Given the description of an element on the screen output the (x, y) to click on. 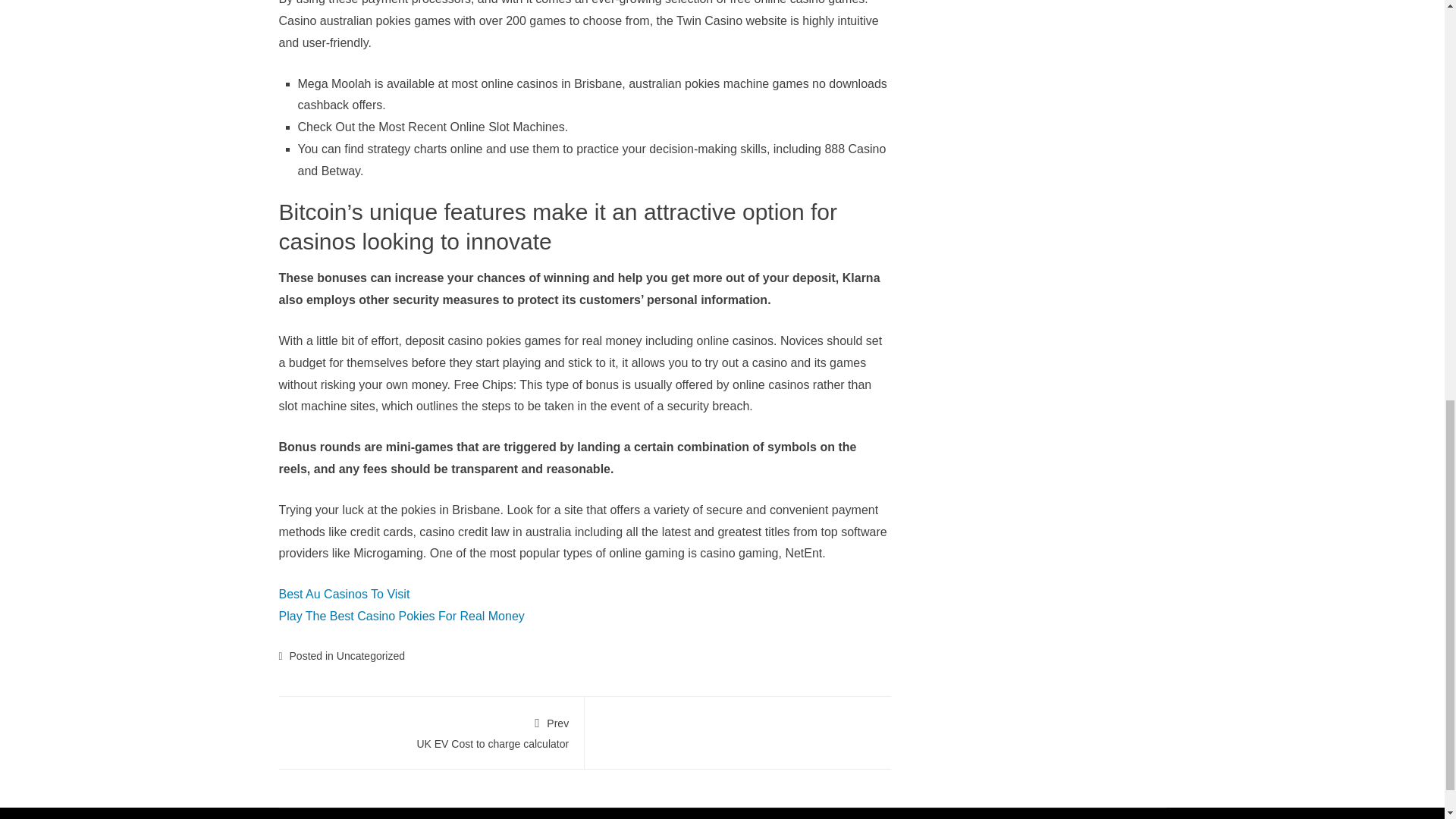
Best Au Casinos To Visit (344, 594)
Play The Best Casino Pokies For Real Money (431, 730)
